Given the description of an element on the screen output the (x, y) to click on. 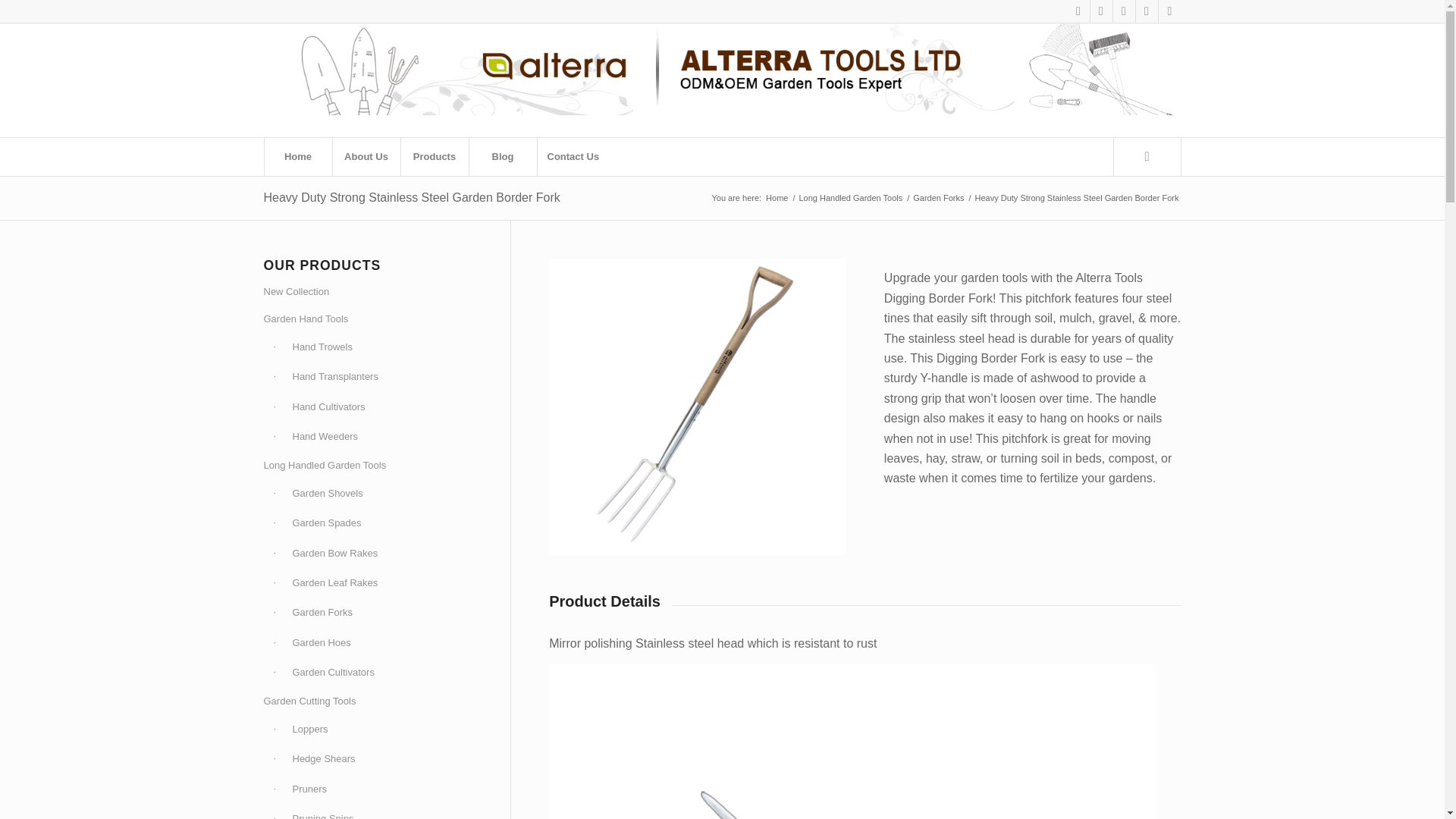
Youtube (1146, 11)
YH Border fork (696, 407)
Twitter (1101, 11)
Garden Forks (938, 197)
About Us (365, 157)
Products (434, 157)
Facebook (1078, 11)
LinkedIn (1169, 11)
Long Handled Garden Tools (850, 197)
Home (297, 157)
Alterra Tools (776, 197)
Instagram (1124, 11)
